Given the description of an element on the screen output the (x, y) to click on. 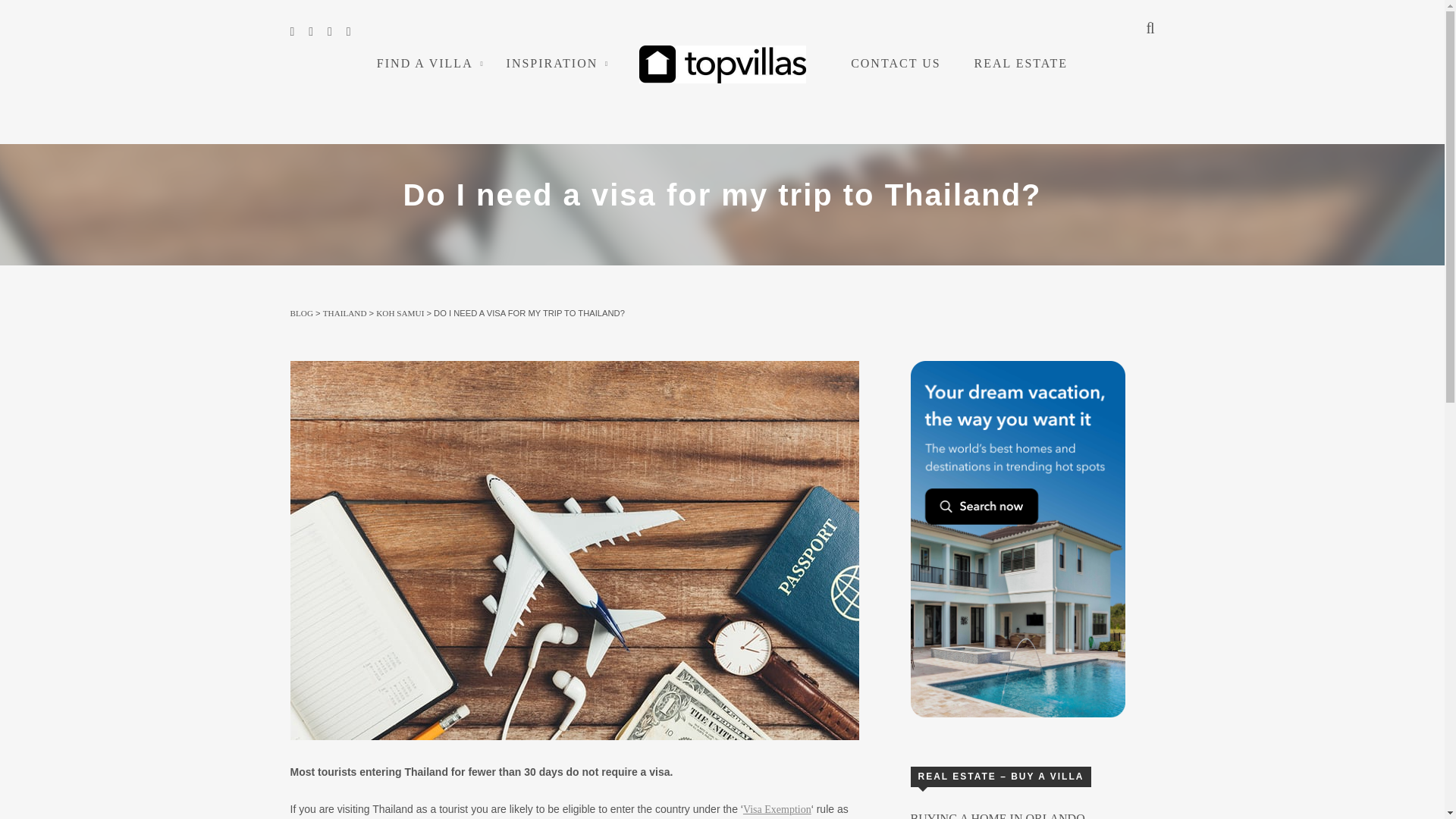
FIND A VILLA (425, 62)
